Given the description of an element on the screen output the (x, y) to click on. 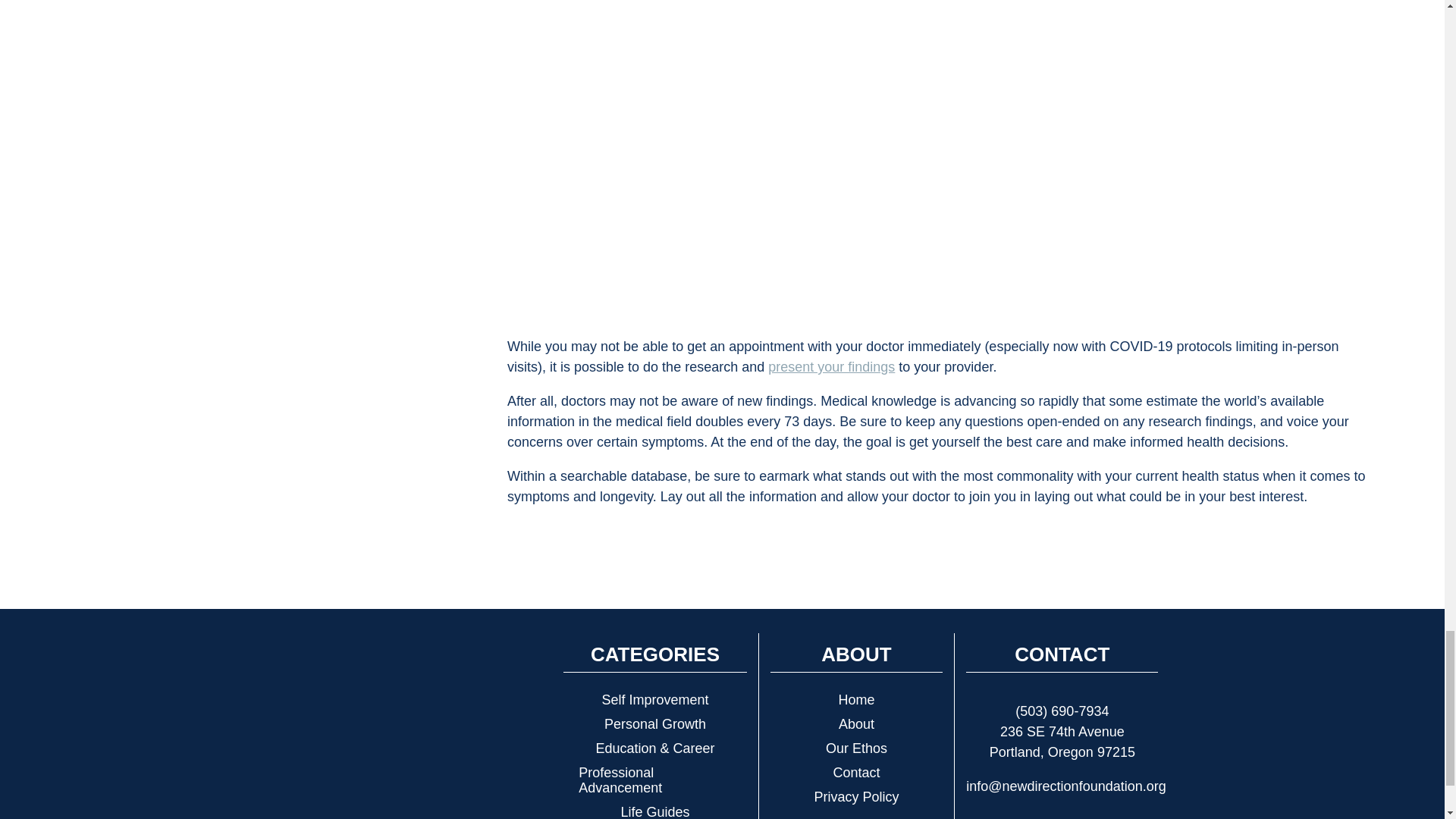
Professional Advancement (654, 780)
Life Guides (654, 809)
present your findings (831, 366)
Personal Growth (654, 723)
Self Improvement (654, 699)
